Given the description of an element on the screen output the (x, y) to click on. 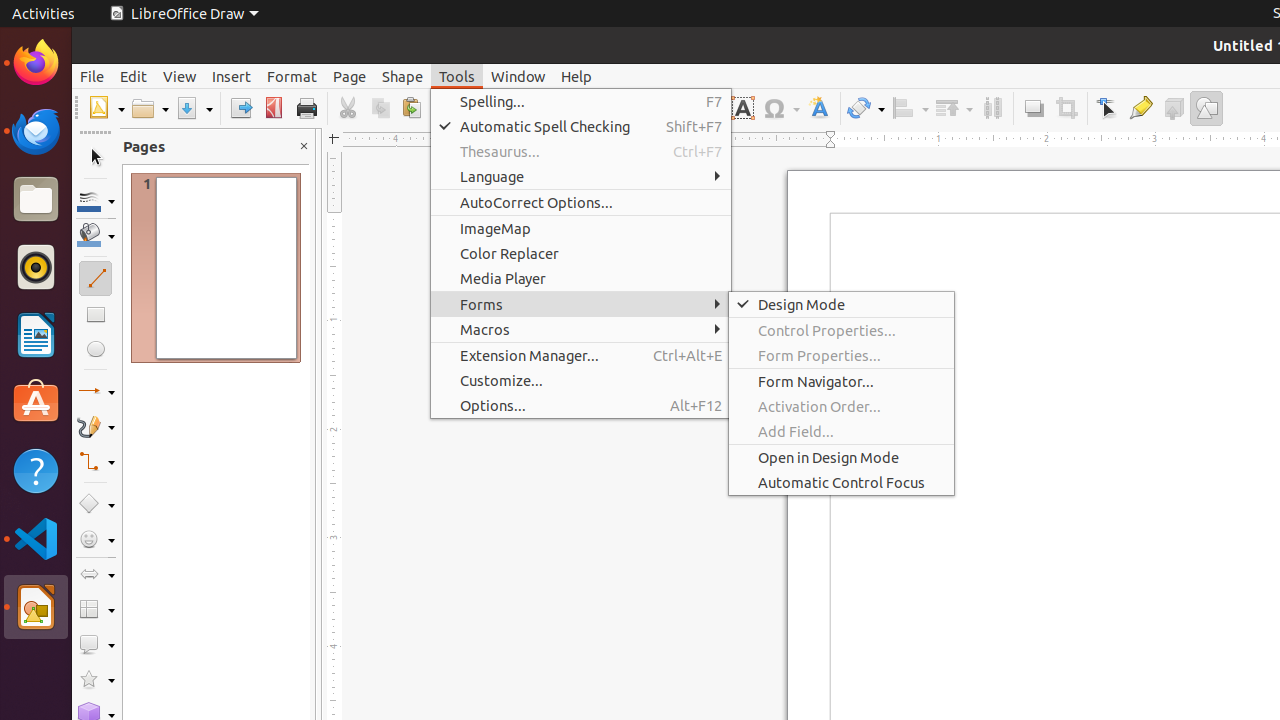
Save Element type: push-button (194, 108)
LibreOffice Draw Element type: menu (183, 13)
AutoCorrect Options... Element type: menu-item (581, 202)
Insert Element type: menu (231, 76)
Arrange Element type: push-button (954, 108)
